Given the description of an element on the screen output the (x, y) to click on. 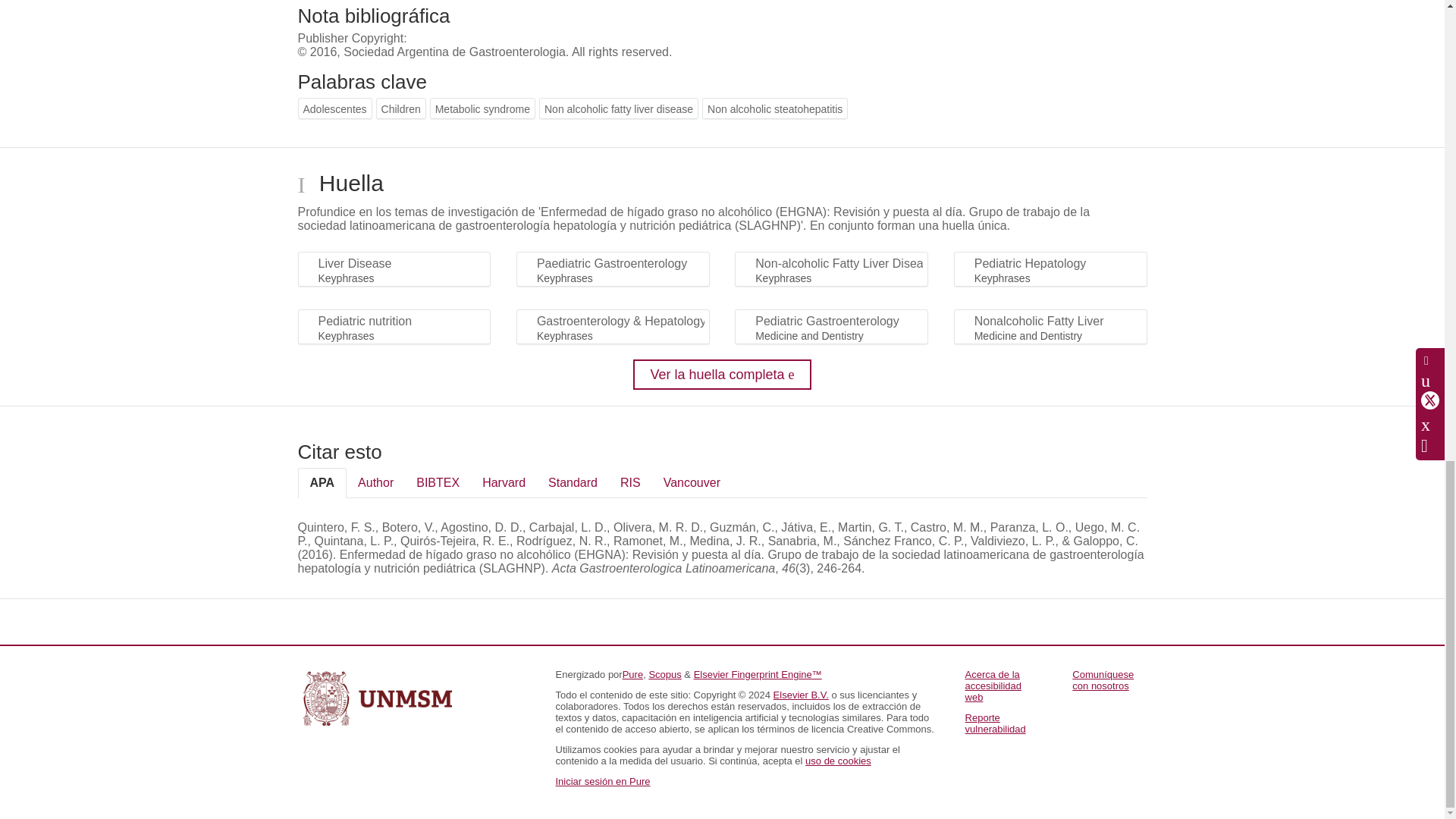
Ver la huella completa (721, 374)
Scopus (664, 674)
Pure (633, 674)
